Given the description of an element on the screen output the (x, y) to click on. 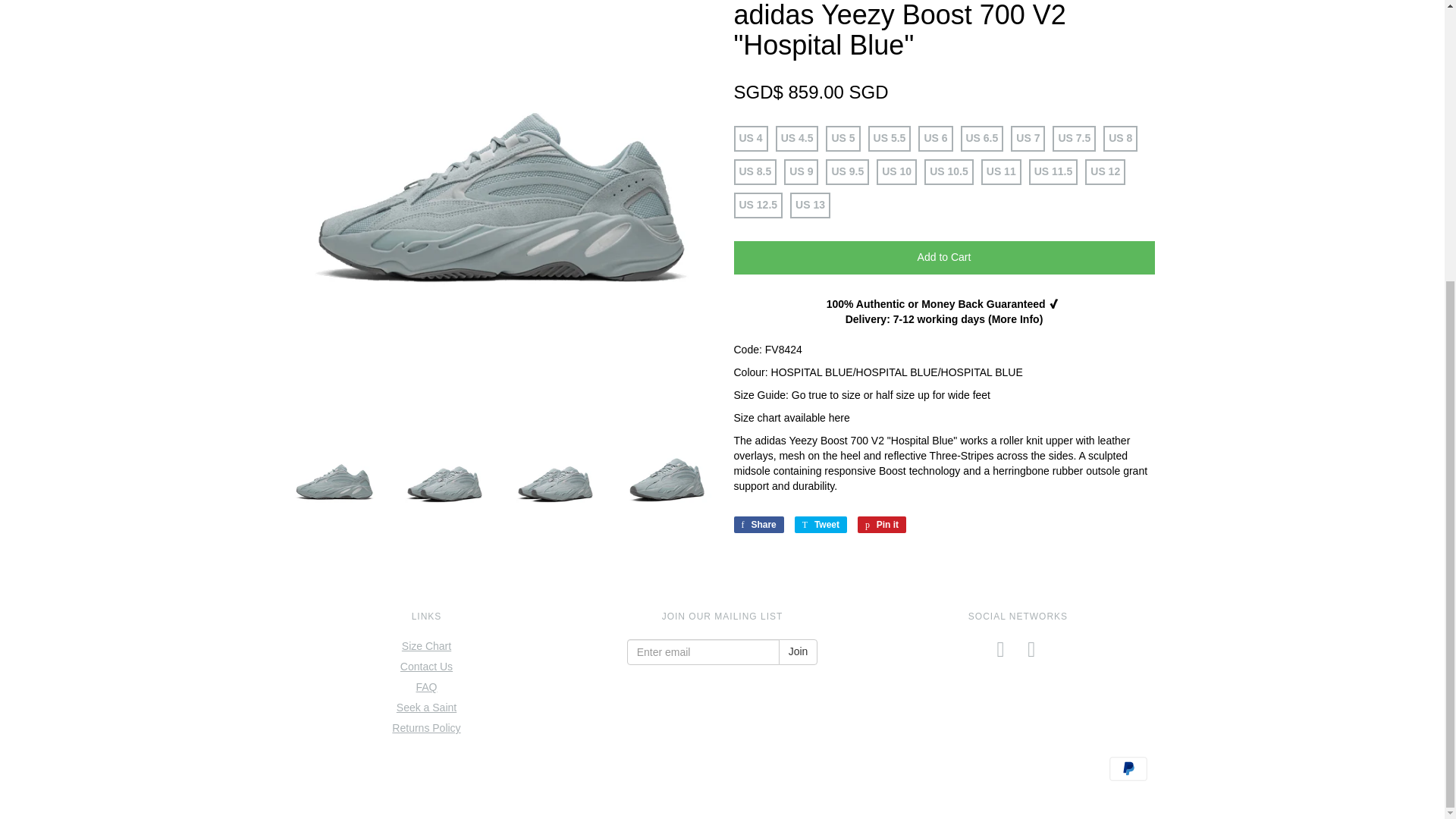
Add to Cart (943, 257)
adidas Yeezy Boost 700 V2 "Hospital Blue" (445, 483)
adidas Yeezy Boost 700 V2 "Hospital Blue" (333, 483)
adidas Yeezy Boost 700 V2 "Hospital Blue" (555, 483)
Join (798, 652)
adidas Yeezy Boost 700 V2 "Hospital Blue" (666, 483)
